Given the description of an element on the screen output the (x, y) to click on. 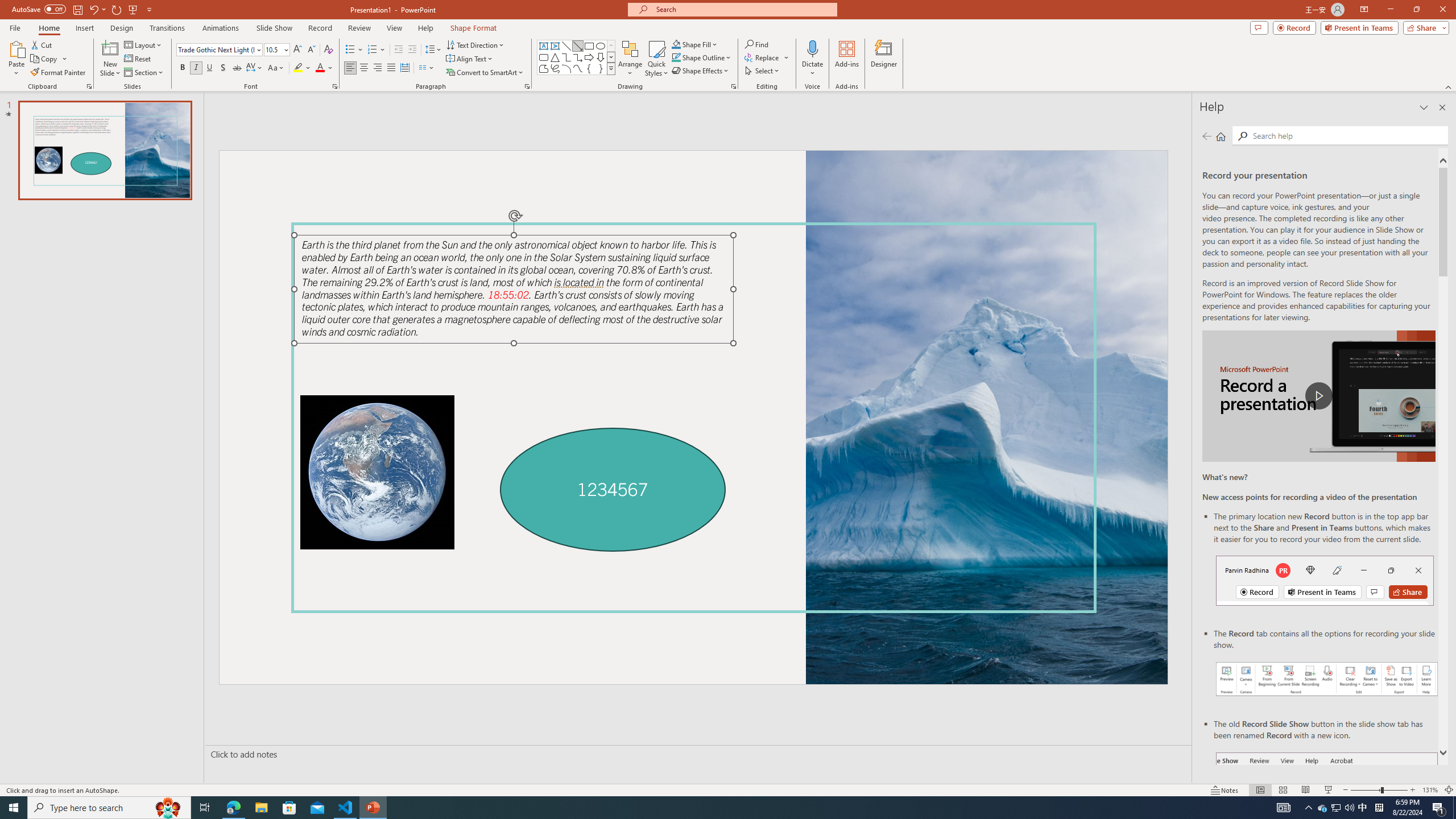
Shape Fill Aqua, Accent 2 (675, 44)
Previous page (1206, 136)
